Given the description of an element on the screen output the (x, y) to click on. 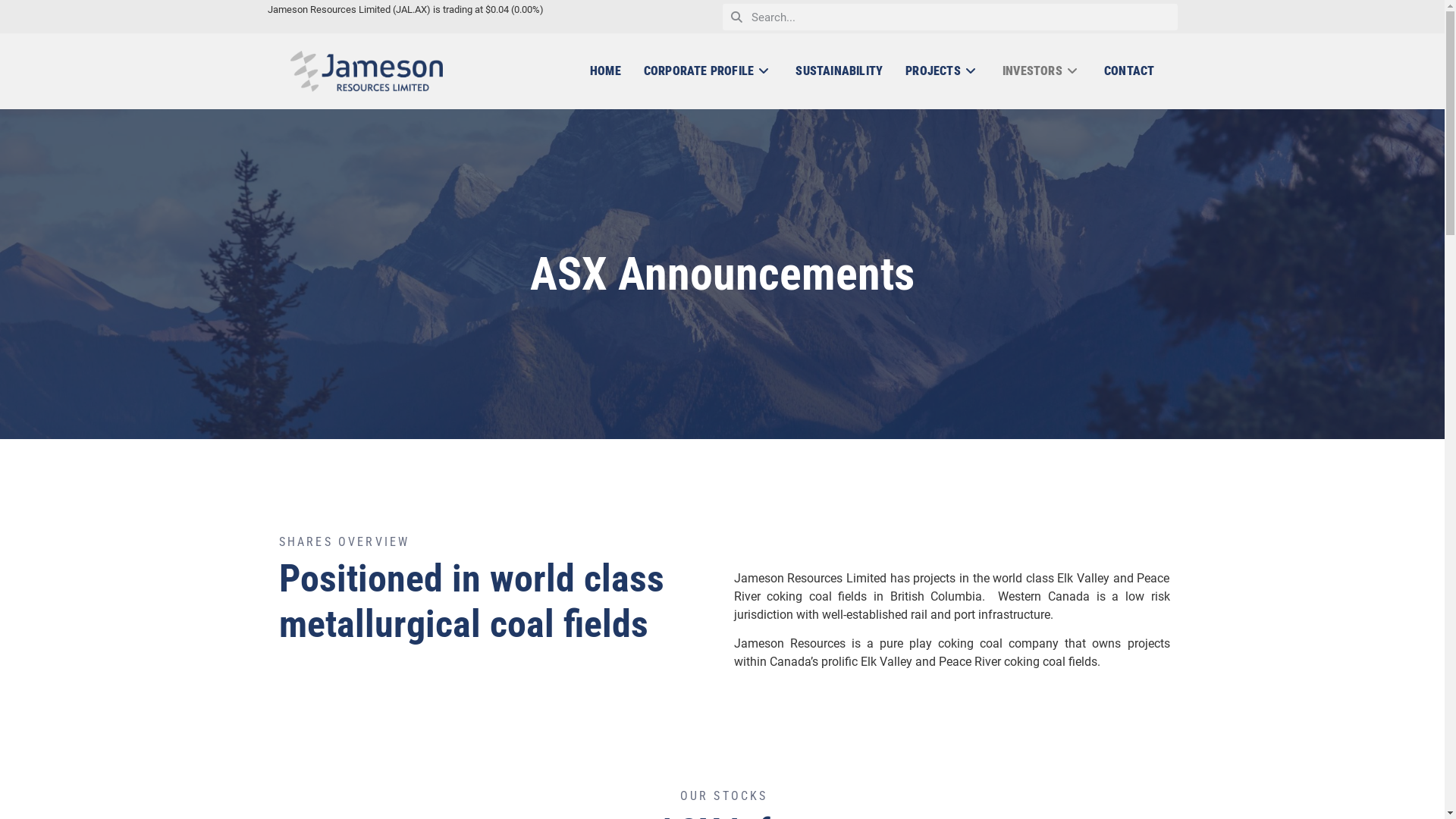
SUSTAINABILITY Element type: text (839, 70)
HOME Element type: text (610, 70)
CONTACT Element type: text (1123, 70)
CORPORATE PROFILE Element type: text (708, 70)
INVESTORS Element type: text (1041, 70)
PROJECTS Element type: text (942, 70)
